Given the description of an element on the screen output the (x, y) to click on. 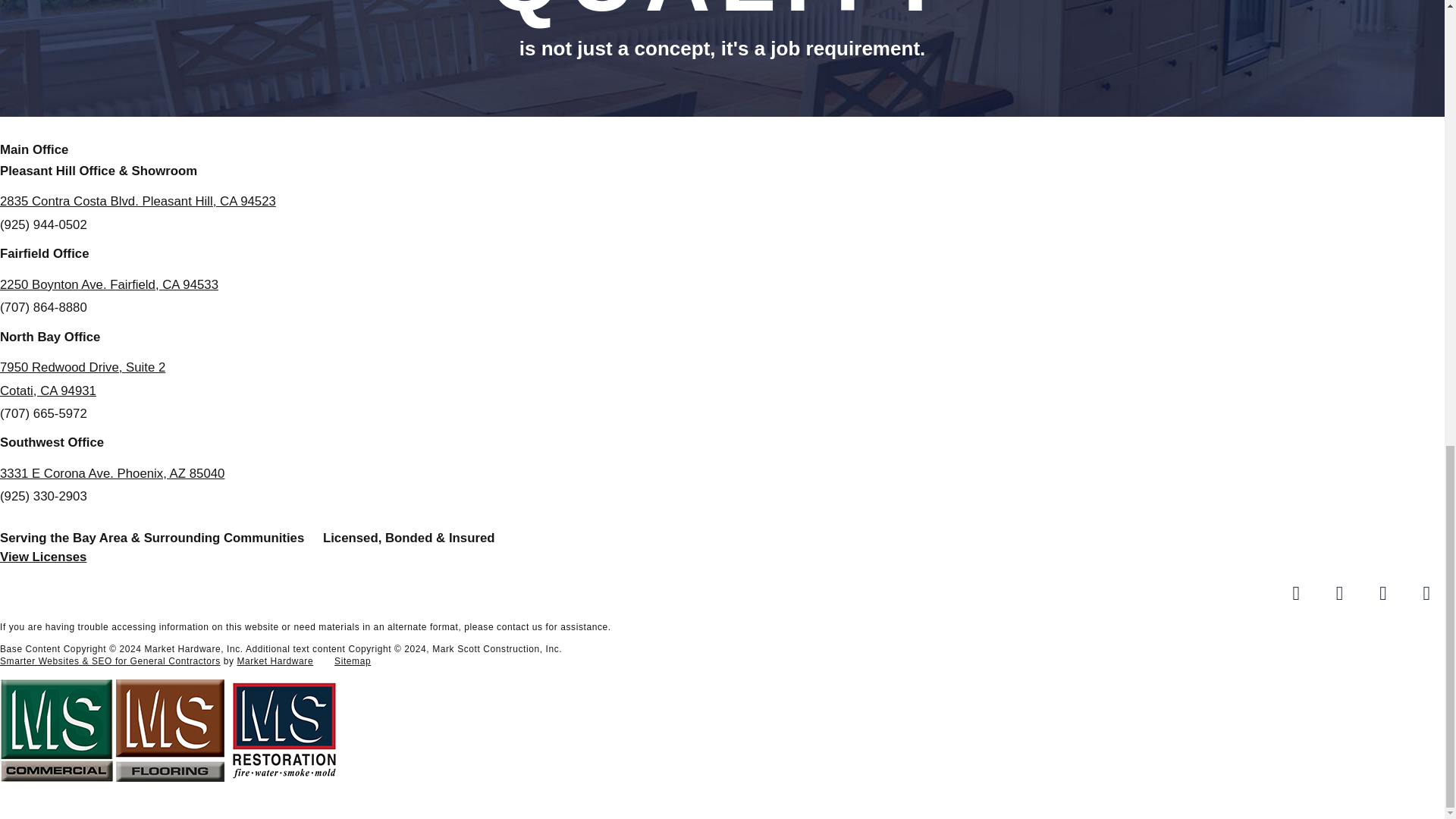
Sitemap (343, 661)
Market Hardware (274, 661)
View Licenses (42, 556)
